Given the description of an element on the screen output the (x, y) to click on. 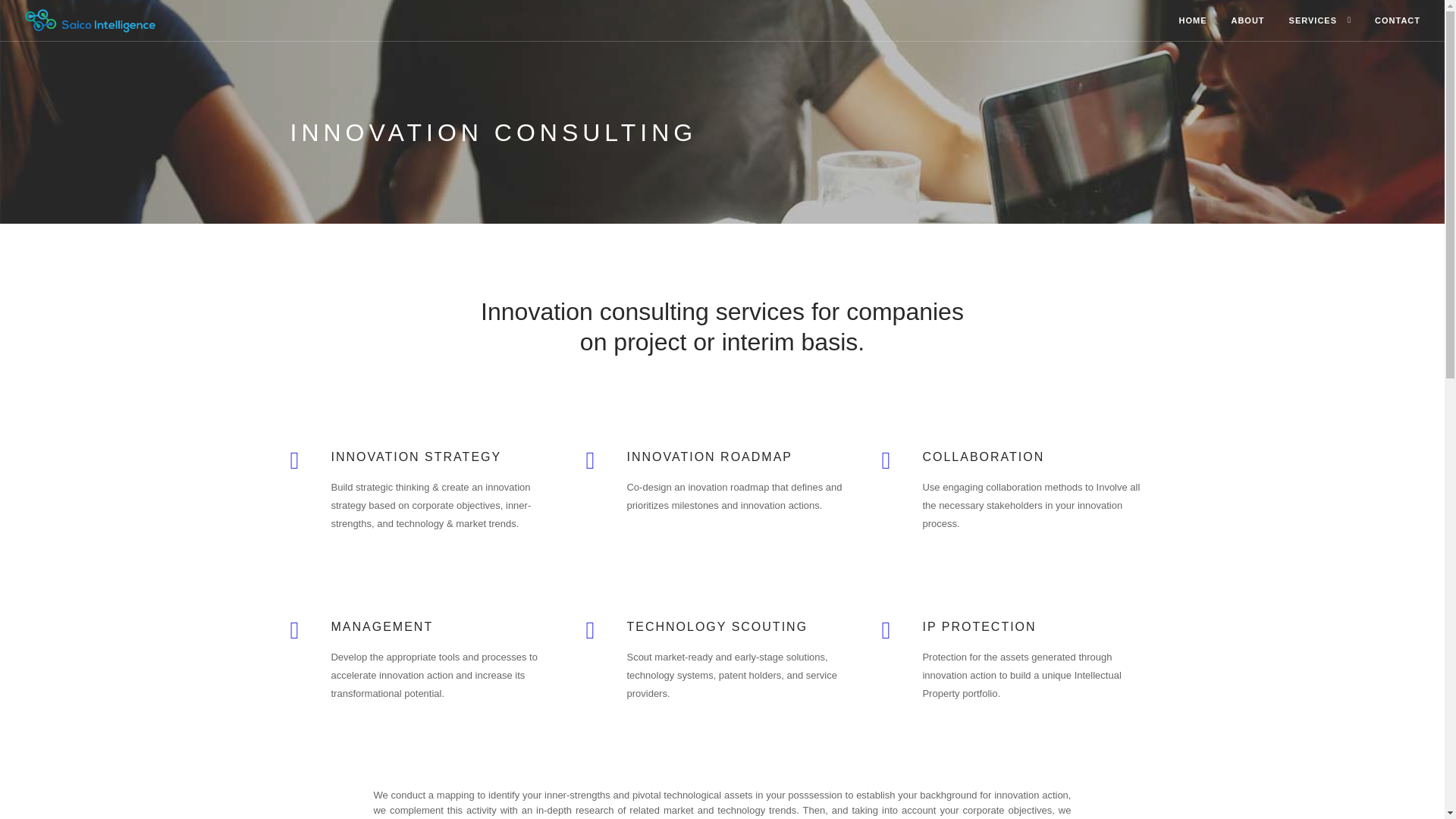
SERVICES (1312, 21)
CONTACT (1397, 21)
